Given the description of an element on the screen output the (x, y) to click on. 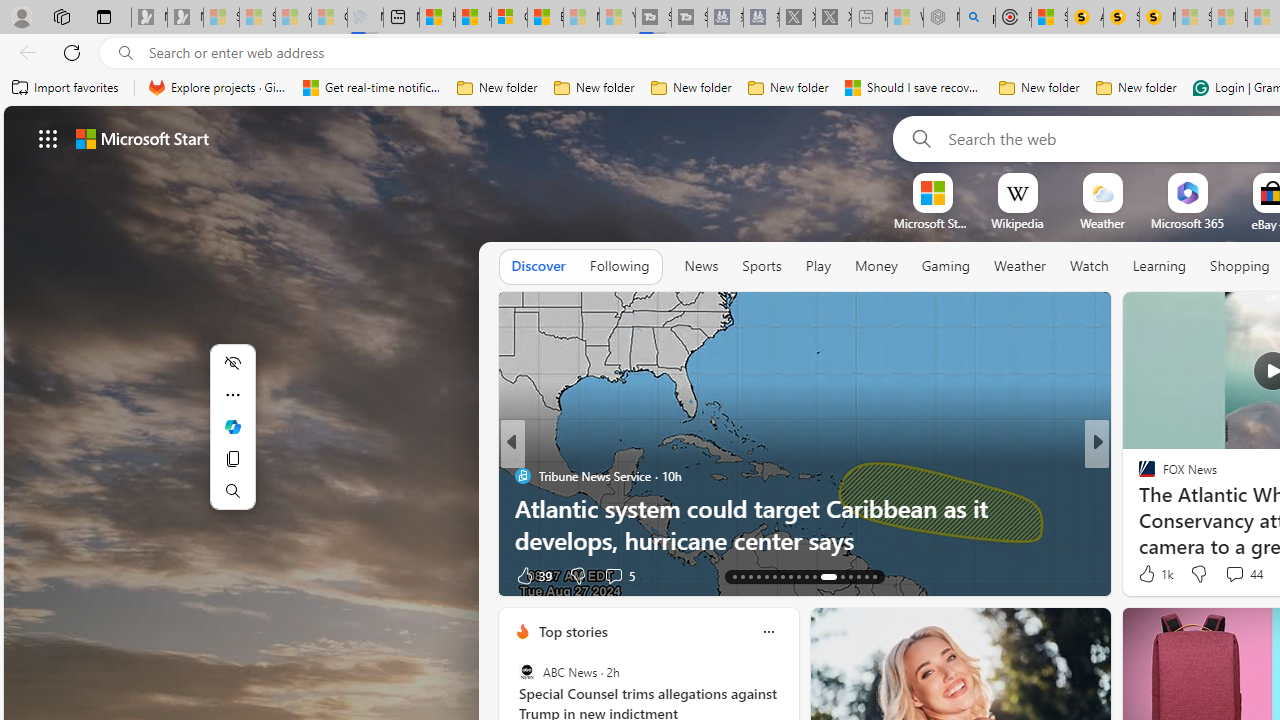
Wikipedia (1017, 223)
The Weather Channel (1138, 475)
AutomationID: tab-29 (874, 576)
21 Like (1149, 574)
